Given the description of an element on the screen output the (x, y) to click on. 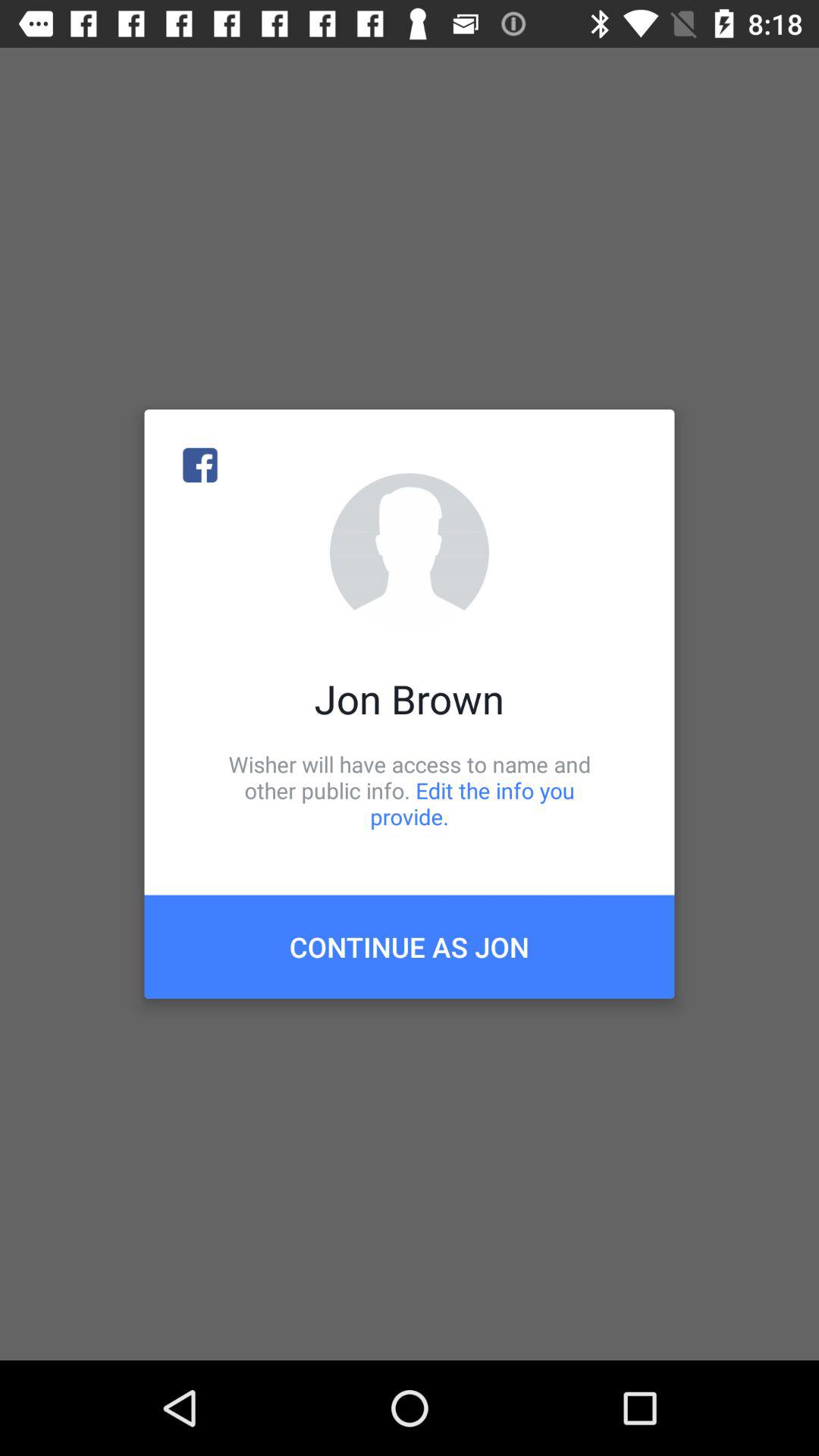
launch item below jon brown item (409, 790)
